Given the description of an element on the screen output the (x, y) to click on. 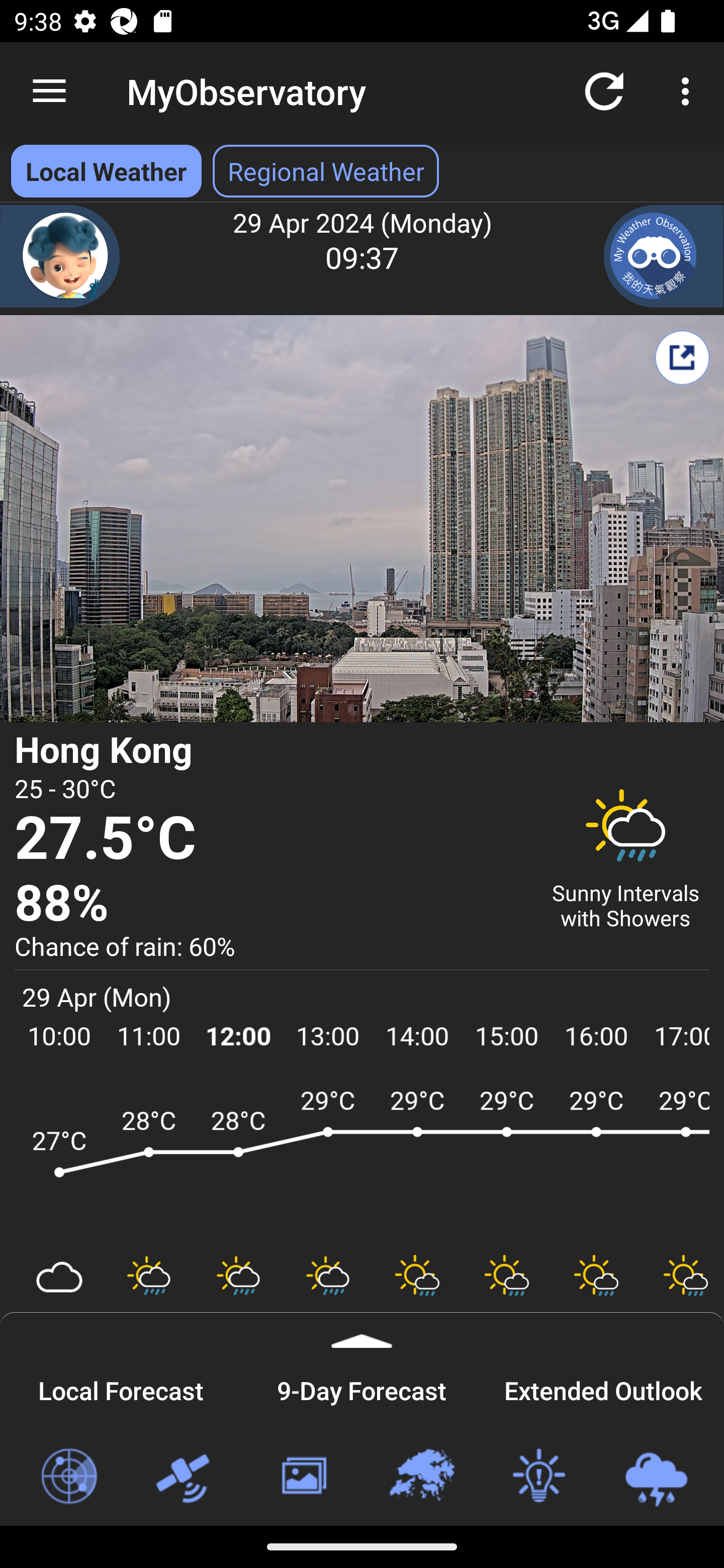
Navigate up (49, 91)
Refresh (604, 90)
More options (688, 90)
Local Weather Local Weather selected (105, 170)
Regional Weather Select Regional Weather (325, 170)
Chatbot (60, 256)
My Weather Observation (663, 256)
Share My Weather Report (681, 357)
27.5°C Temperature
27.5 degree Celsius (270, 839)
88% Relative Humidity
88 percent (270, 903)
ARWF (361, 1160)
Expand (362, 1330)
Local Forecast (120, 1387)
Extended Outlook (603, 1387)
Radar Images (68, 1476)
Satellite Images (185, 1476)
Weather Photos (302, 1476)
Regional Weather (420, 1476)
Weather Tips (537, 1476)
Loc-based Rain & Lightning Forecast (655, 1476)
